Given the description of an element on the screen output the (x, y) to click on. 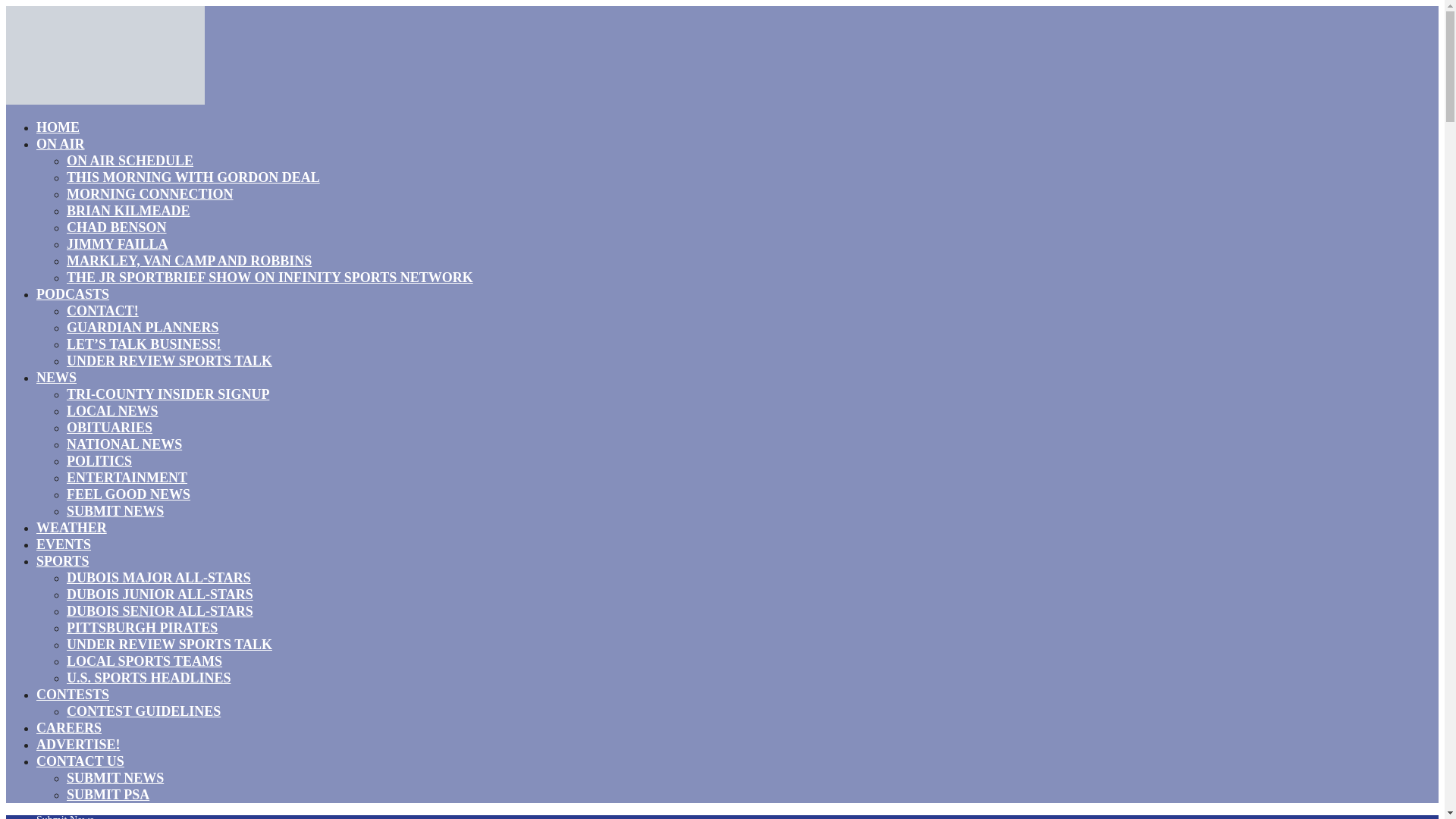
CHAD BENSON (116, 227)
WEATHER (71, 527)
BRIAN KILMEADE (128, 210)
LOCAL SPORTS TEAMS (144, 660)
TRI-COUNTY INSIDER SIGNUP (167, 394)
MARKLEY, VAN CAMP AND ROBBINS (188, 260)
DUBOIS SENIOR ALL-STARS (159, 610)
U.S. SPORTS HEADLINES (148, 677)
SPORTS (62, 560)
HOME (58, 127)
UNDER REVIEW SPORTS TALK (169, 360)
UNDER REVIEW SPORTS TALK (169, 644)
THIS MORNING WITH GORDON DEAL (193, 177)
OBITUARIES (109, 427)
JIMMY FAILLA (117, 243)
